Given the description of an element on the screen output the (x, y) to click on. 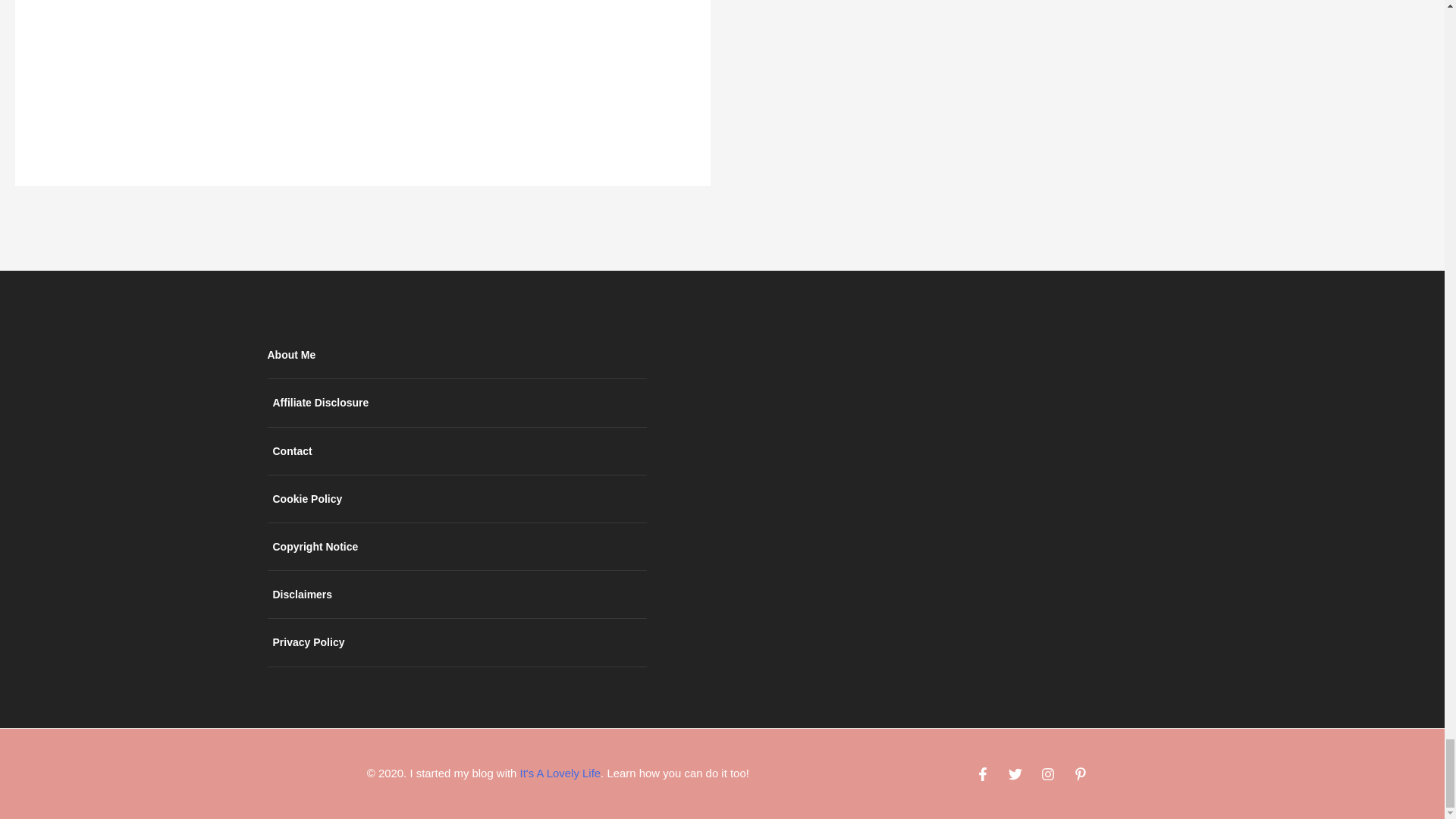
Comment Form (363, 65)
